Given the description of an element on the screen output the (x, y) to click on. 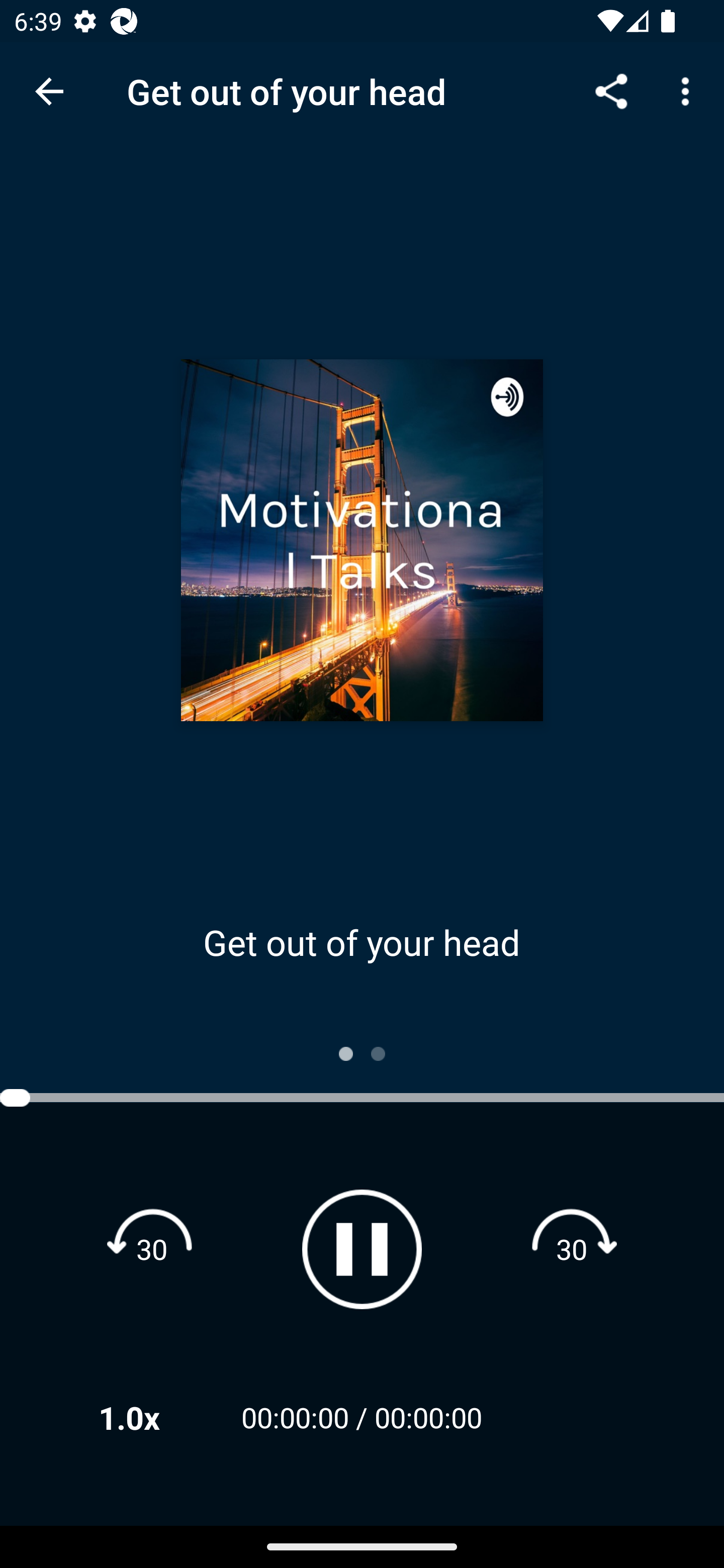
Navigate up (49, 91)
Share... (611, 90)
More options (688, 90)
Pause (361, 1249)
Rewind (151, 1248)
Fast forward (571, 1248)
1.0x Playback Speeds (154, 1417)
00:00:00 (428, 1417)
